Given the description of an element on the screen output the (x, y) to click on. 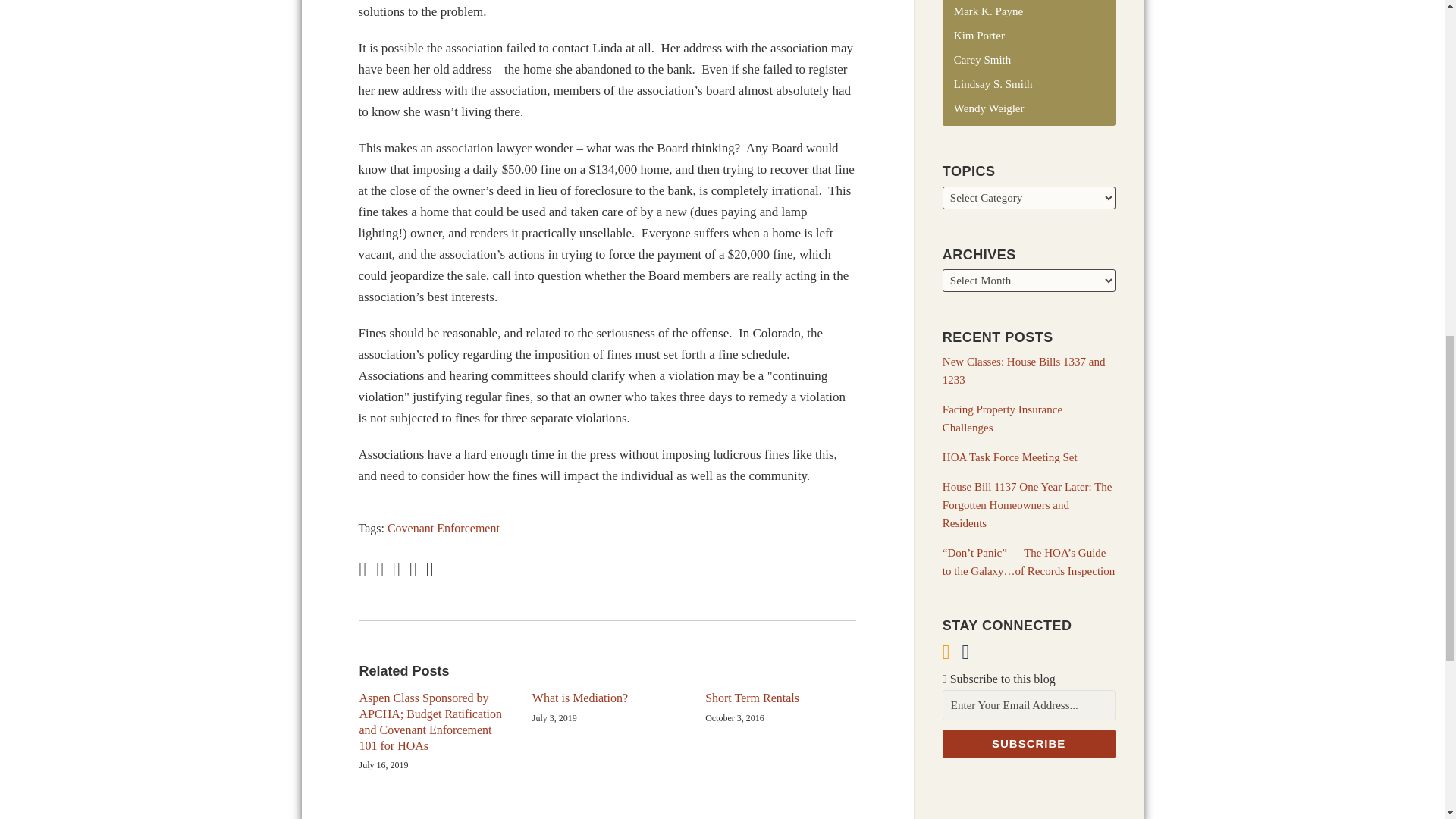
Covenant Enforcement (443, 527)
Wendy Weigler (989, 108)
Mark K. Payne (988, 10)
Facing Property Insurance Challenges (1002, 418)
Kim Porter (978, 35)
HOA Task Force Meeting Set (1009, 457)
Lindsay S. Smith (992, 83)
Subscribe (1028, 743)
